Given the description of an element on the screen output the (x, y) to click on. 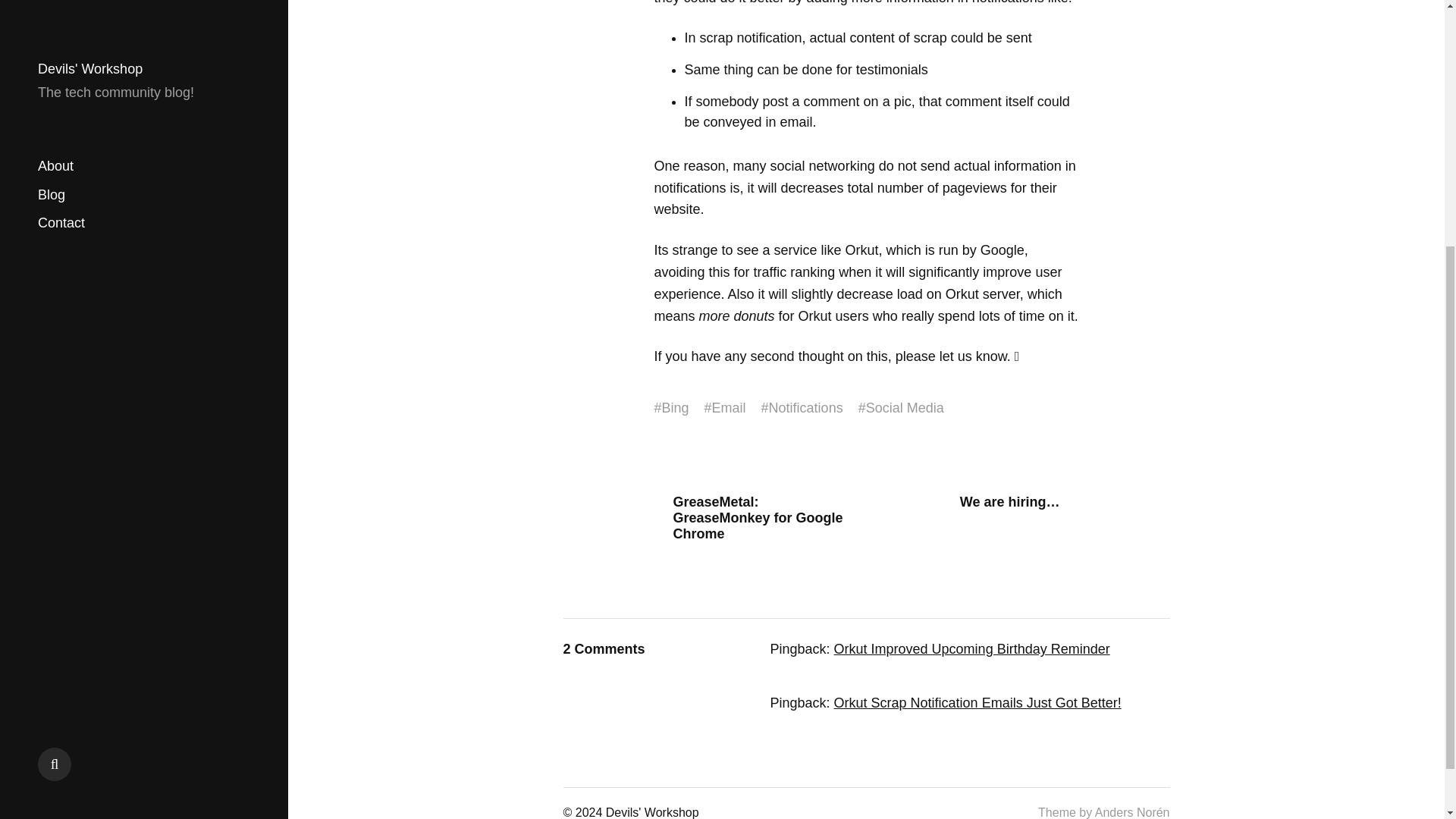
GreaseMetal: GreaseMonkey for Google Chrome (753, 518)
Bing (675, 408)
Email (728, 408)
Orkut Improved Upcoming Birthday Reminder (971, 648)
Orkut Scrap Notification Emails Just Got Better! (977, 702)
Social Media (904, 408)
Notifications (805, 408)
